Given the description of an element on the screen output the (x, y) to click on. 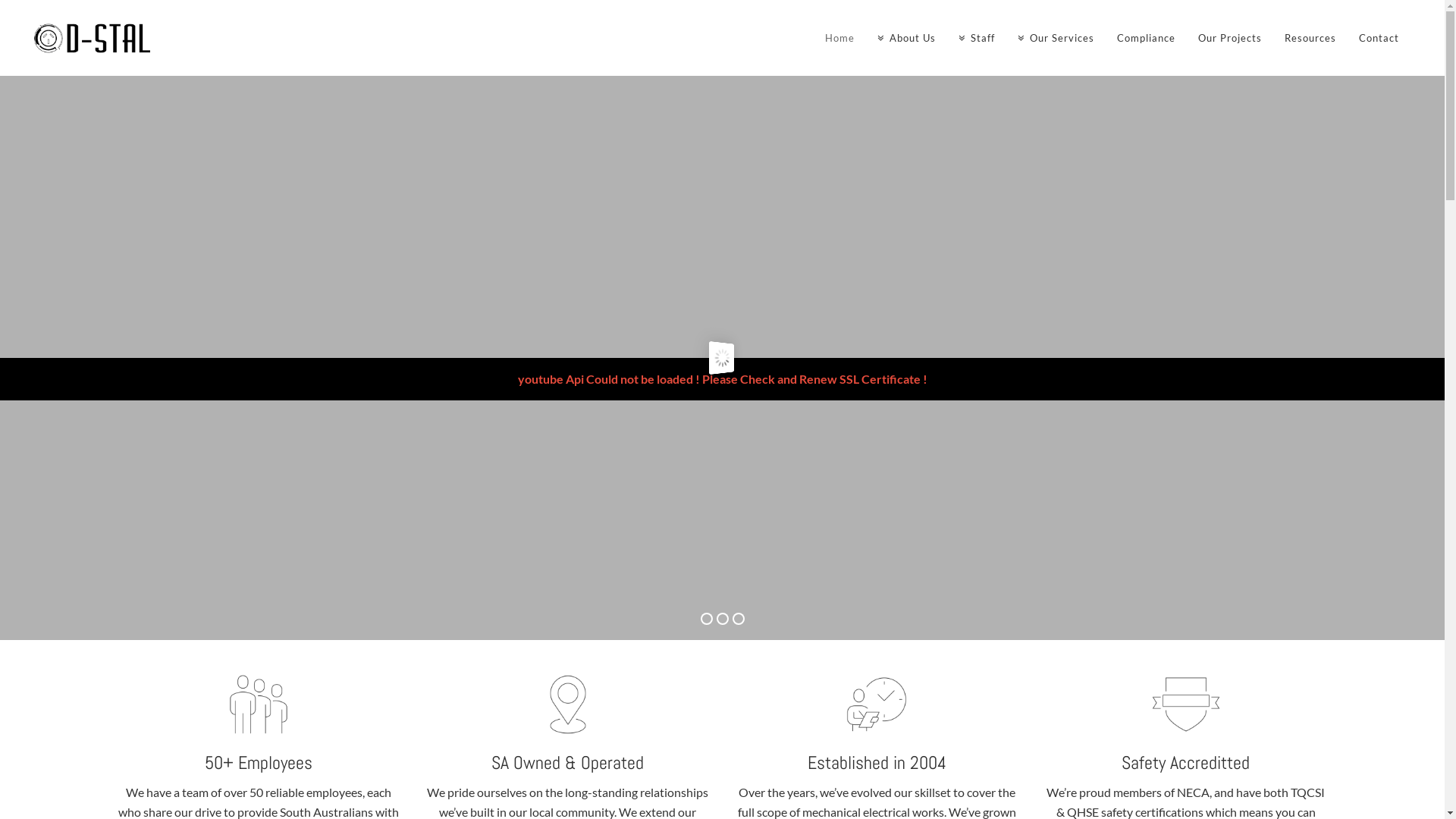
pod_black-02 Element type: hover (567, 704)
Staff Element type: text (976, 37)
Home Element type: text (839, 37)
pod_black-01 Element type: hover (258, 704)
Compliance Element type: text (1145, 37)
Our Services Element type: text (1055, 37)
Our Projects Element type: text (1229, 37)
pod_black-03 Element type: hover (876, 704)
pod_black-04 Element type: hover (1185, 704)
About Us Element type: text (906, 37)
Resources Element type: text (1310, 37)
Contact Element type: text (1378, 37)
